Given the description of an element on the screen output the (x, y) to click on. 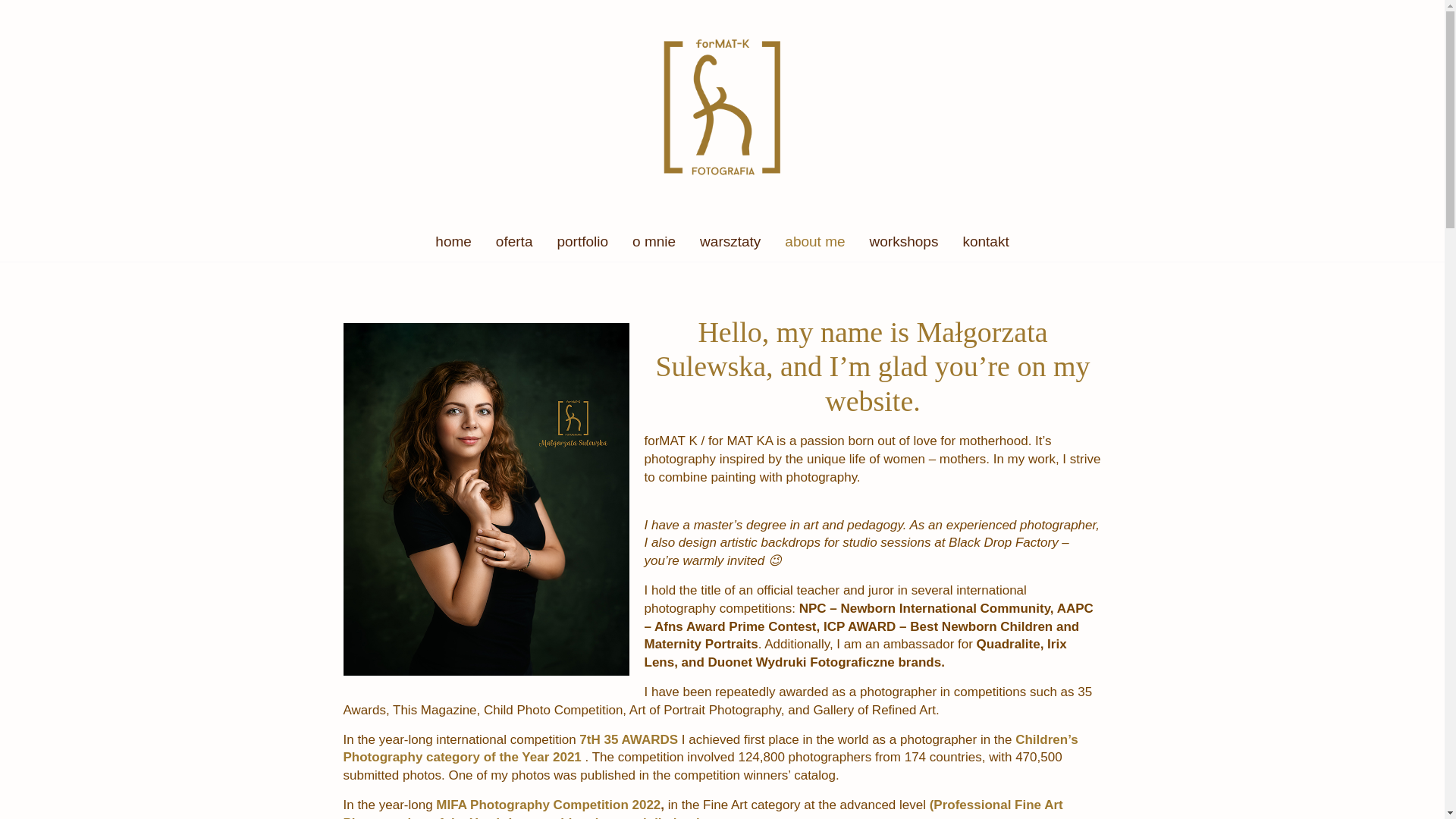
oferta (513, 241)
warsztaty (730, 241)
MIFA Photography Competition 2022 (548, 804)
home (453, 241)
portfolio (582, 241)
7tH 35 AWARDS (628, 739)
workshops (903, 241)
about me (815, 241)
kontakt (985, 241)
o mnie (653, 241)
